Given the description of an element on the screen output the (x, y) to click on. 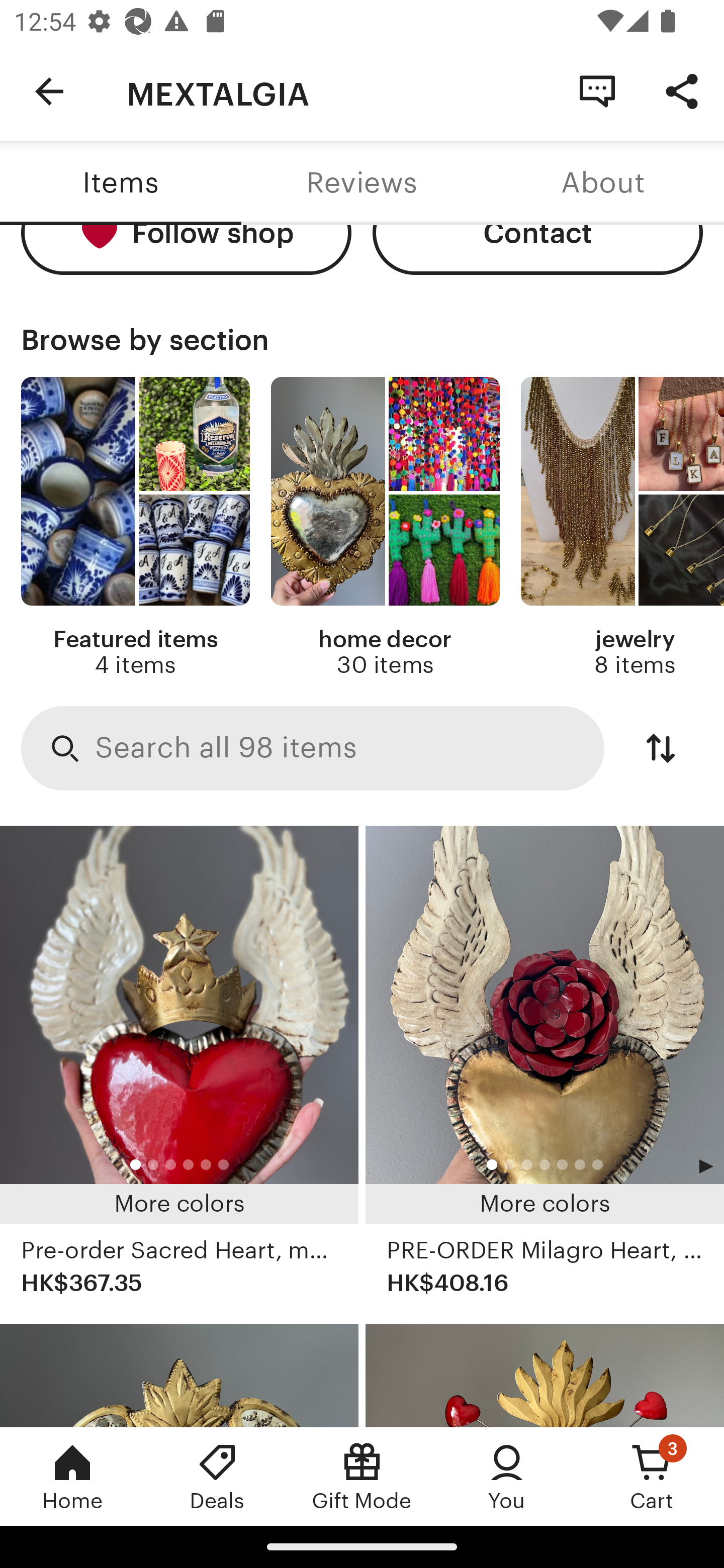
Navigate up (49, 91)
Contact Shop (597, 90)
Share (681, 90)
Reviews (361, 183)
About (603, 183)
Follow shop (185, 249)
Contact (537, 249)
Featured items 4 items (134, 526)
home decor 30 items (384, 526)
jewelry 8 items (622, 526)
Search Search all 98 items (312, 747)
Deals (216, 1475)
Gift Mode (361, 1475)
You (506, 1475)
Cart, 3 new notifications Cart (651, 1475)
